Given the description of an element on the screen output the (x, y) to click on. 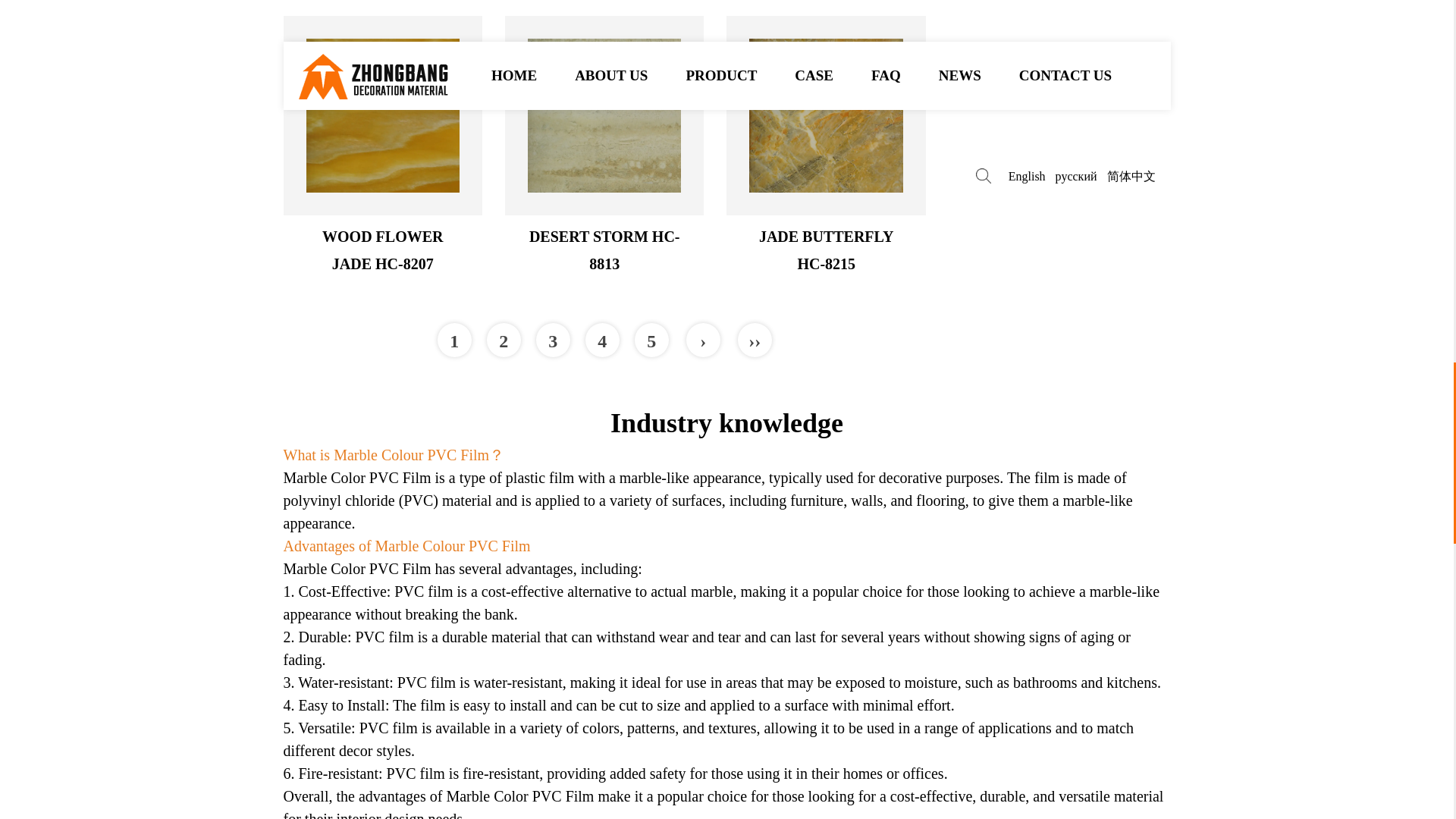
Desert storm HC-8813 (604, 114)
Jade butterfly HC-8215 (825, 114)
Wood flower jade HC-8207 (382, 114)
